Given the description of an element on the screen output the (x, y) to click on. 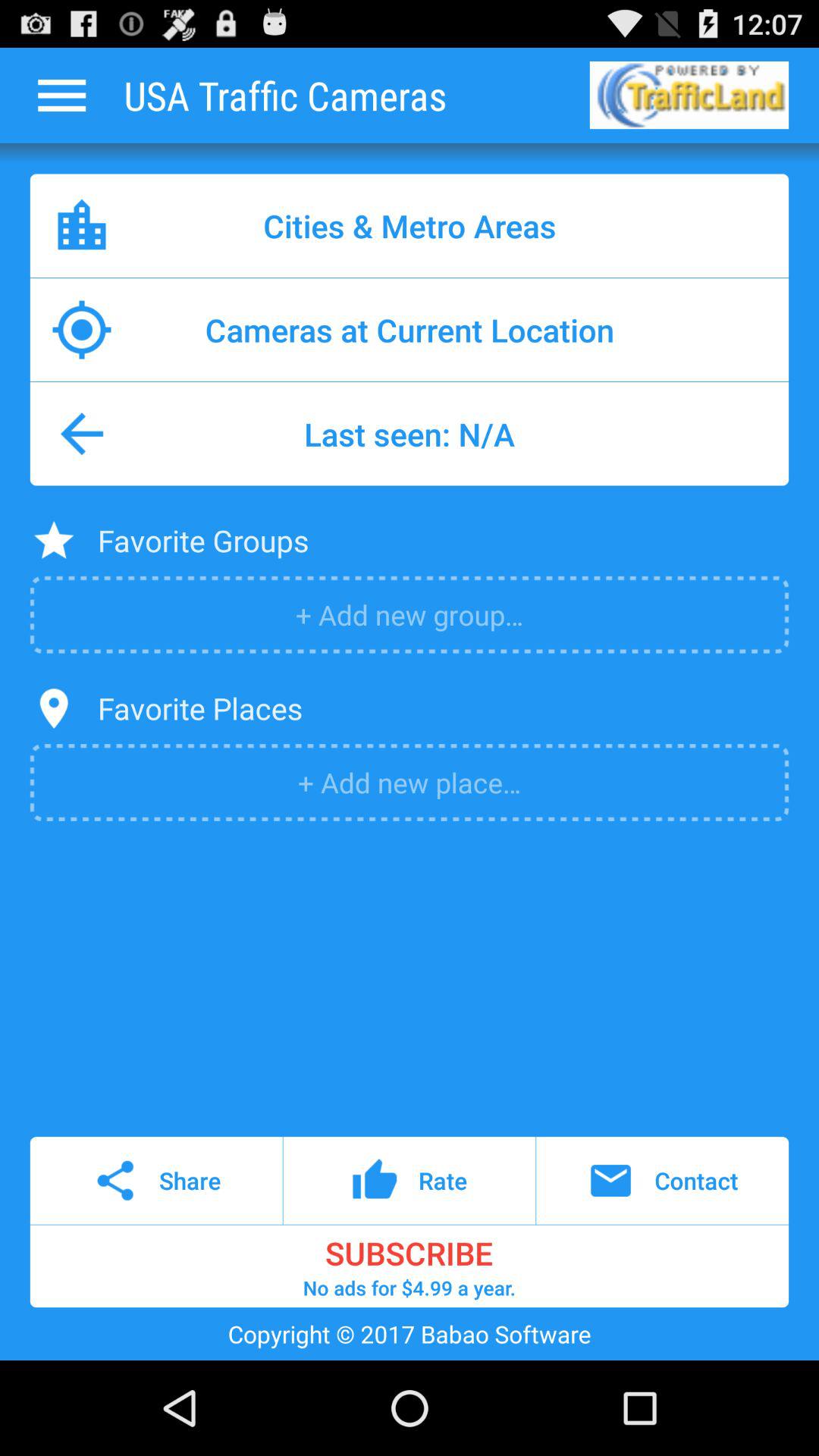
choose the app next to the cameras at current app (81, 329)
